Given the description of an element on the screen output the (x, y) to click on. 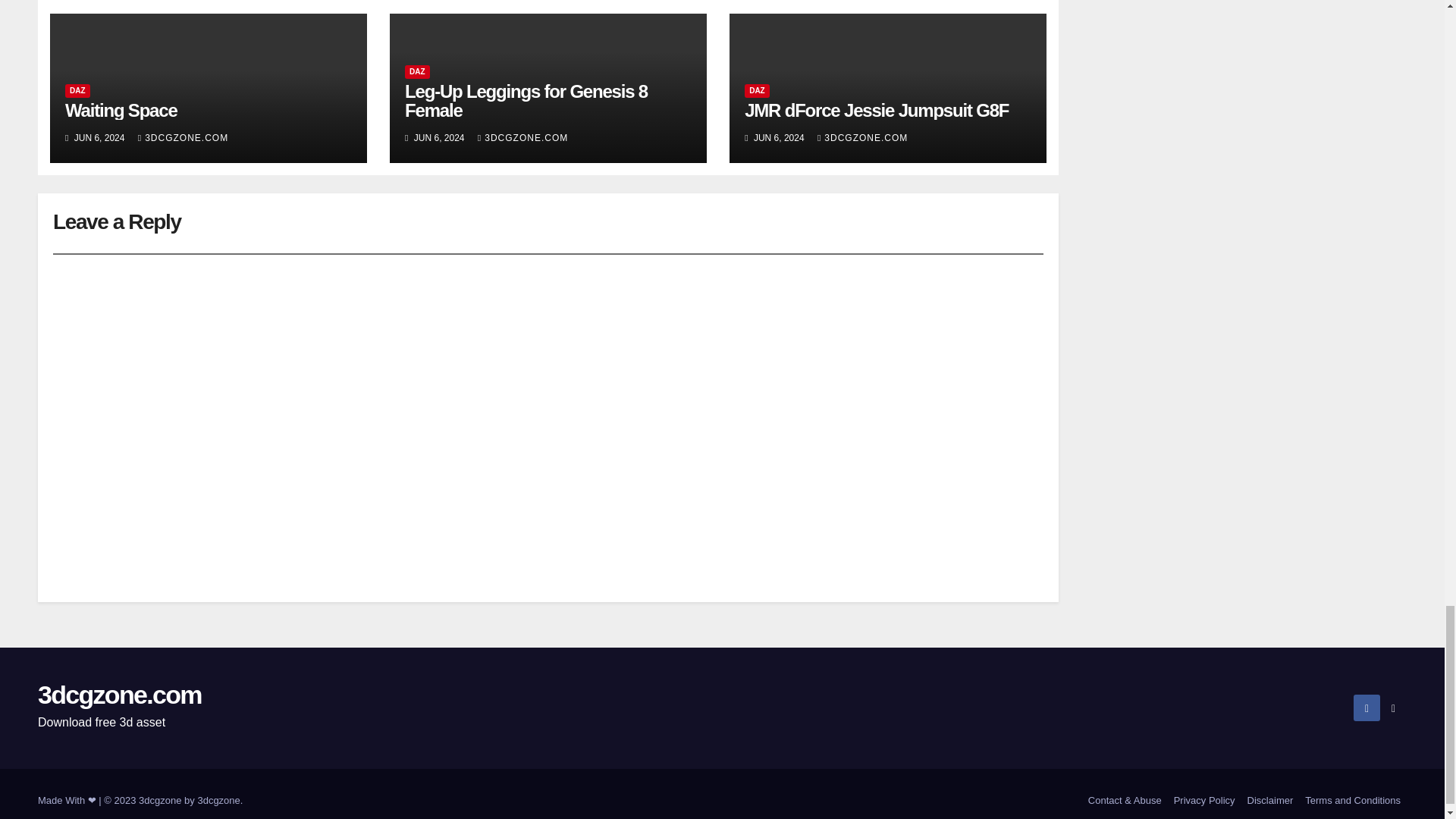
Permalink to: Waiting Space (121, 109)
Waiting Space (121, 109)
DAZ (77, 90)
Permalink to: Leg-Up Leggings for Genesis 8 Female (525, 100)
Permalink to: JMR dForce Jessie Jumpsuit G8F (876, 109)
